Given the description of an element on the screen output the (x, y) to click on. 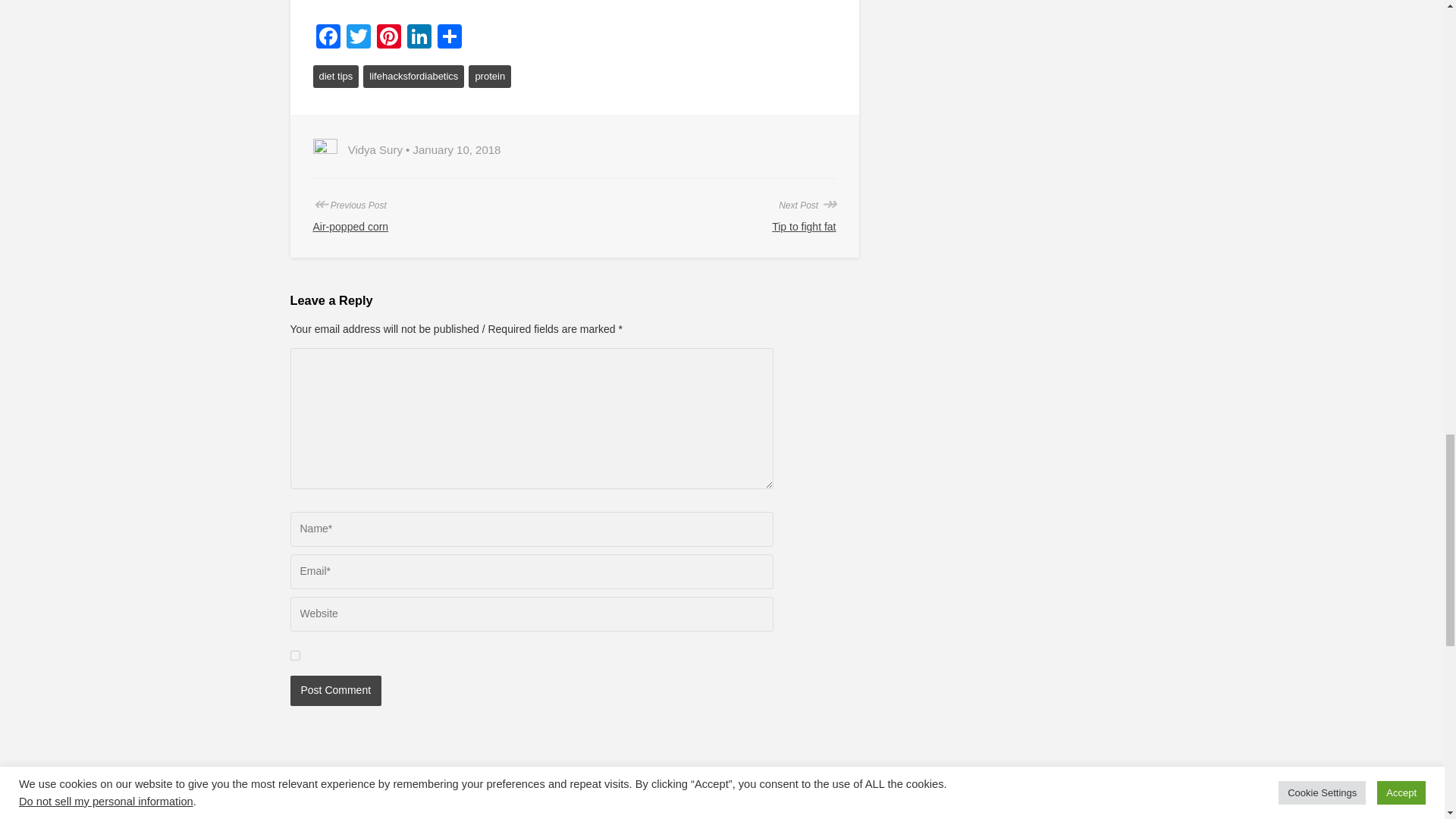
Facebook (327, 38)
Tip to fight fat (803, 226)
lifehacksfordiabetics (413, 76)
LinkedIn (418, 38)
Pinterest (387, 38)
Twitter (357, 38)
protein (489, 76)
diet tips (335, 76)
Post Comment (335, 690)
Air-popped corn (350, 226)
